Given the description of an element on the screen output the (x, y) to click on. 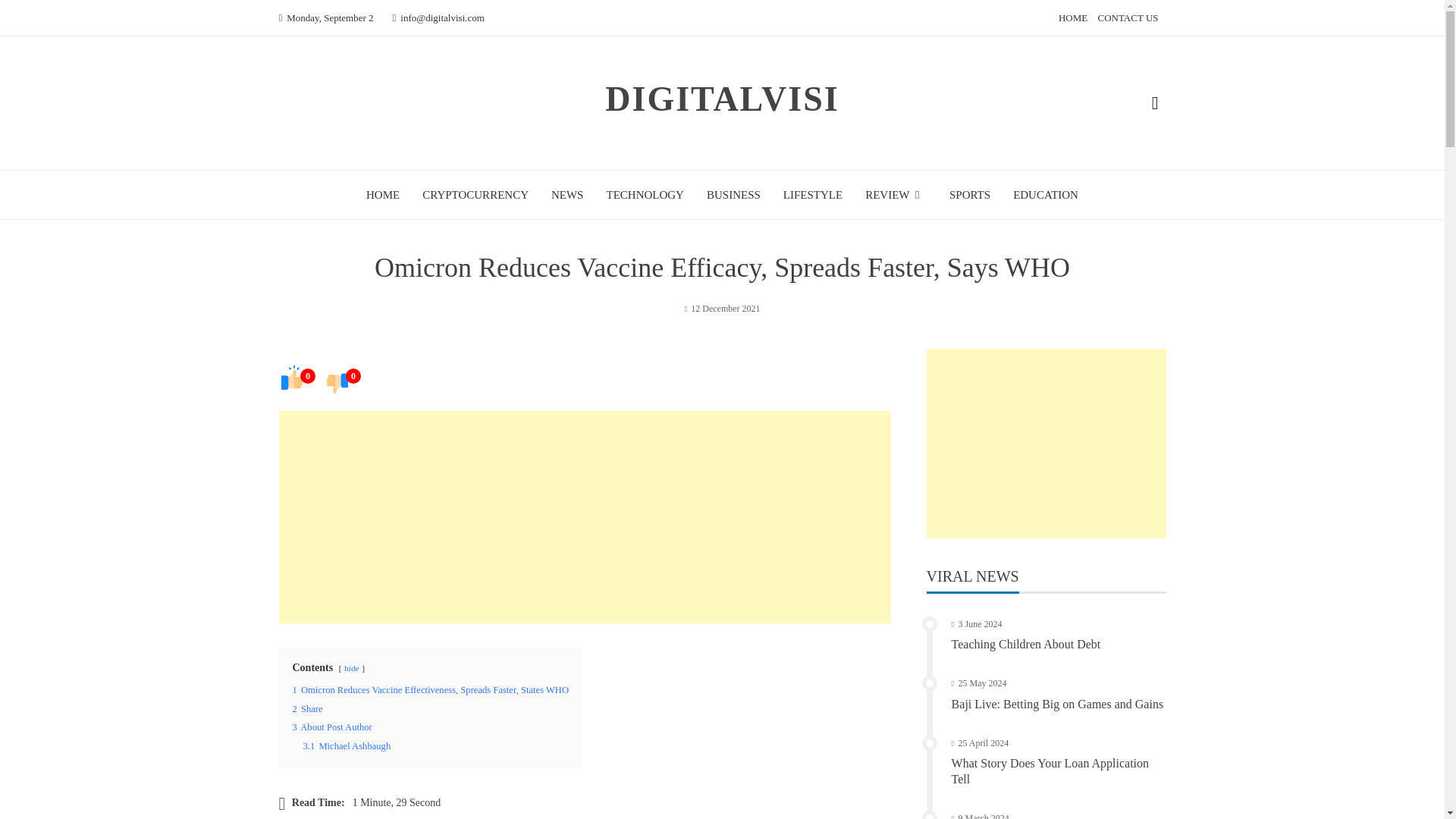
What Story Does Your Loan Application Tell (1050, 770)
CONTACT US (1127, 17)
Baji Live: Betting Big on Games and Gains (1057, 703)
NEWS (567, 194)
TECHNOLOGY (644, 194)
DIGITALVISI (721, 98)
2 Share (307, 708)
Teaching Children About Debt (1026, 644)
EDUCATION (1045, 194)
HOME (382, 194)
